Given the description of an element on the screen output the (x, y) to click on. 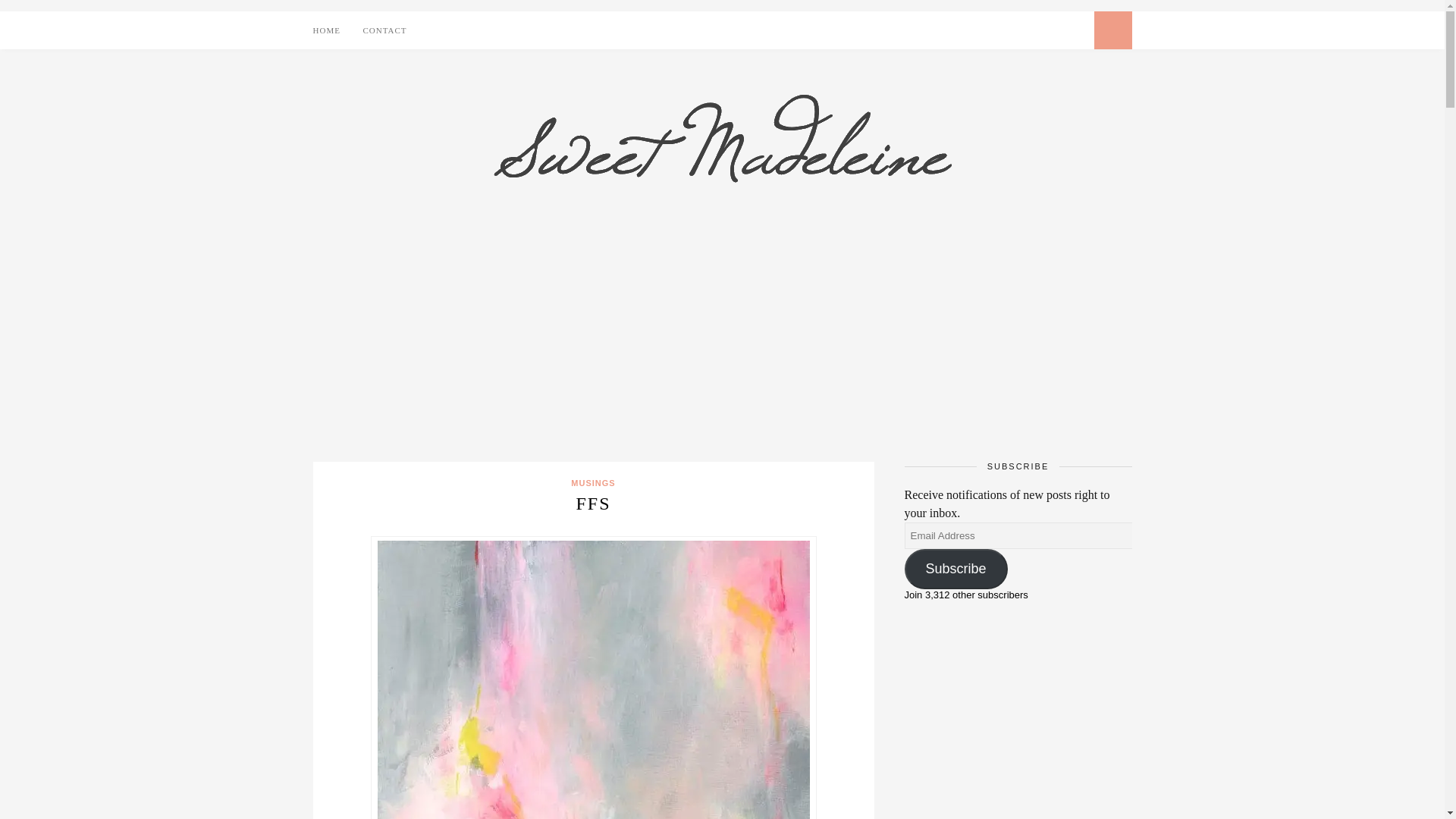
CONTACT (384, 30)
MUSINGS (592, 482)
